Given the description of an element on the screen output the (x, y) to click on. 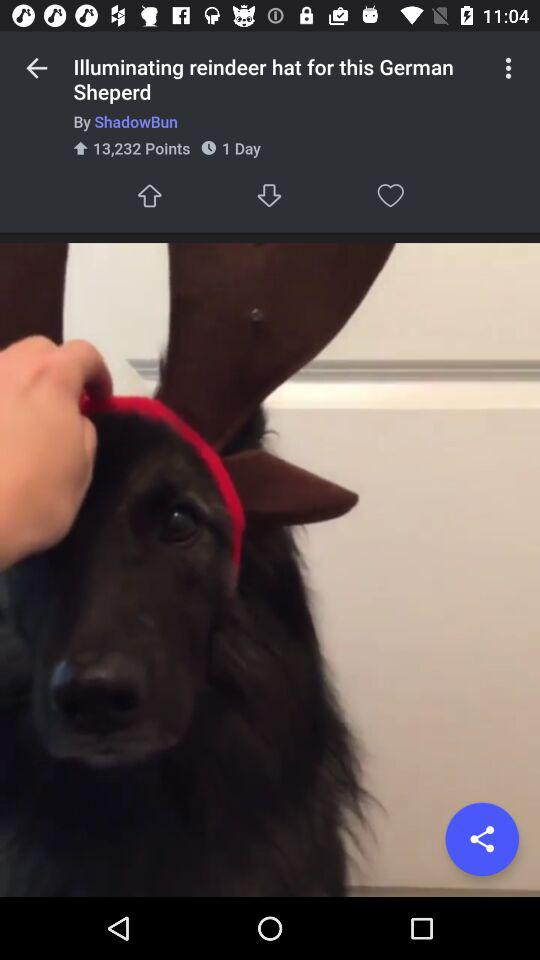
turn on item to the right of 13,231 points item (269, 195)
